Given the description of an element on the screen output the (x, y) to click on. 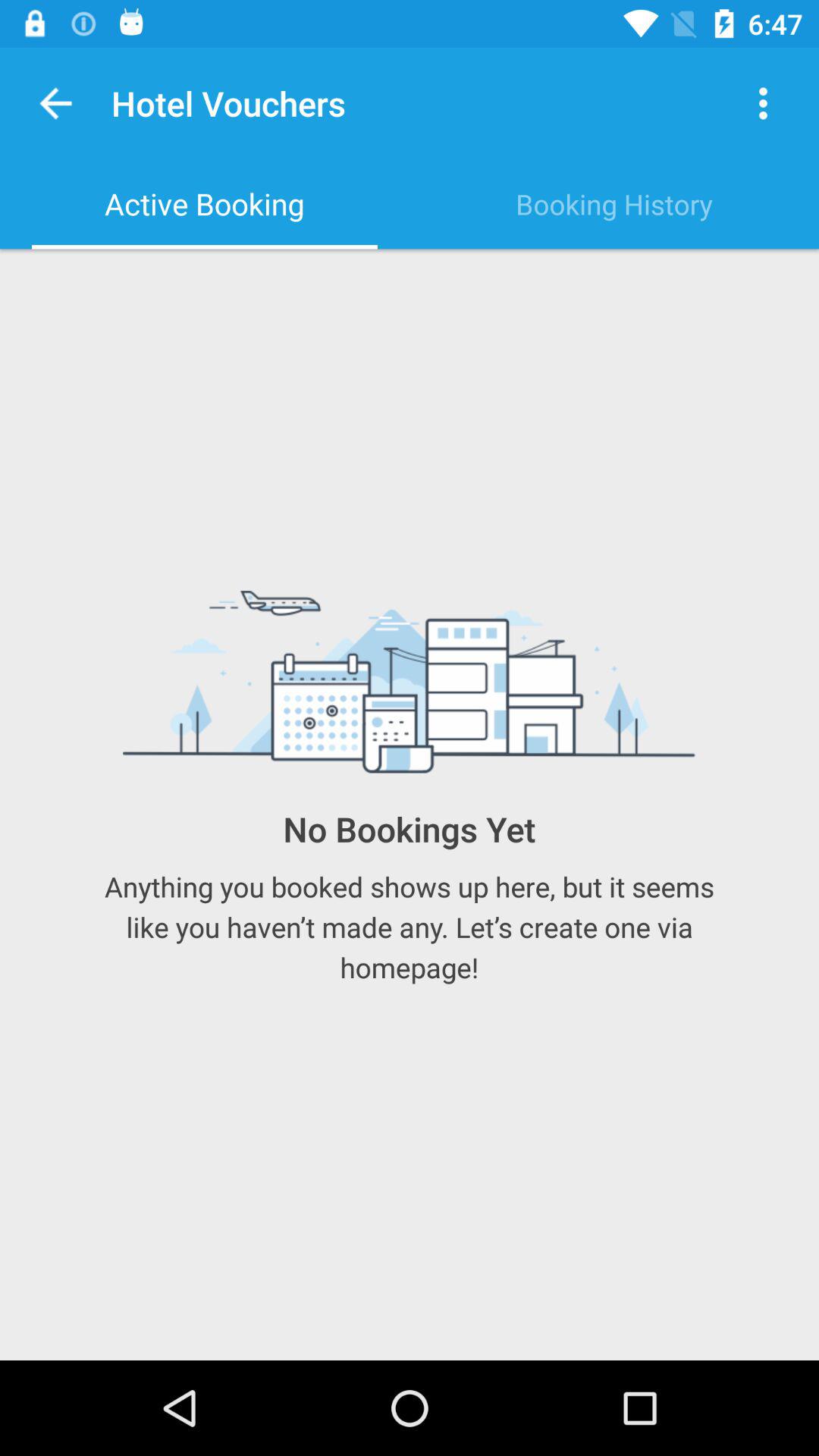
launch icon to the left of the hotel vouchers icon (55, 103)
